Given the description of an element on the screen output the (x, y) to click on. 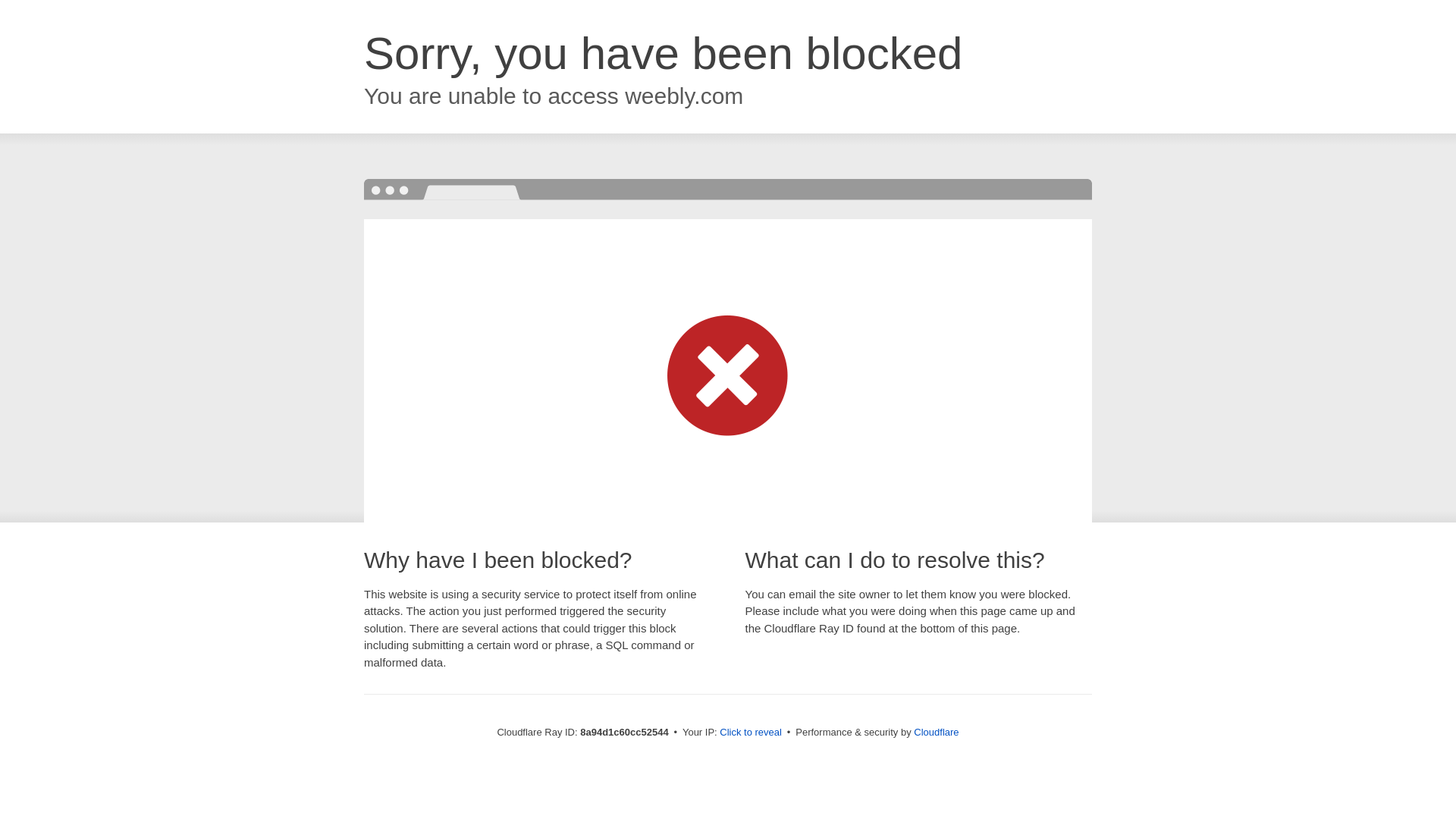
Cloudflare (936, 731)
Click to reveal (750, 732)
